Given the description of an element on the screen output the (x, y) to click on. 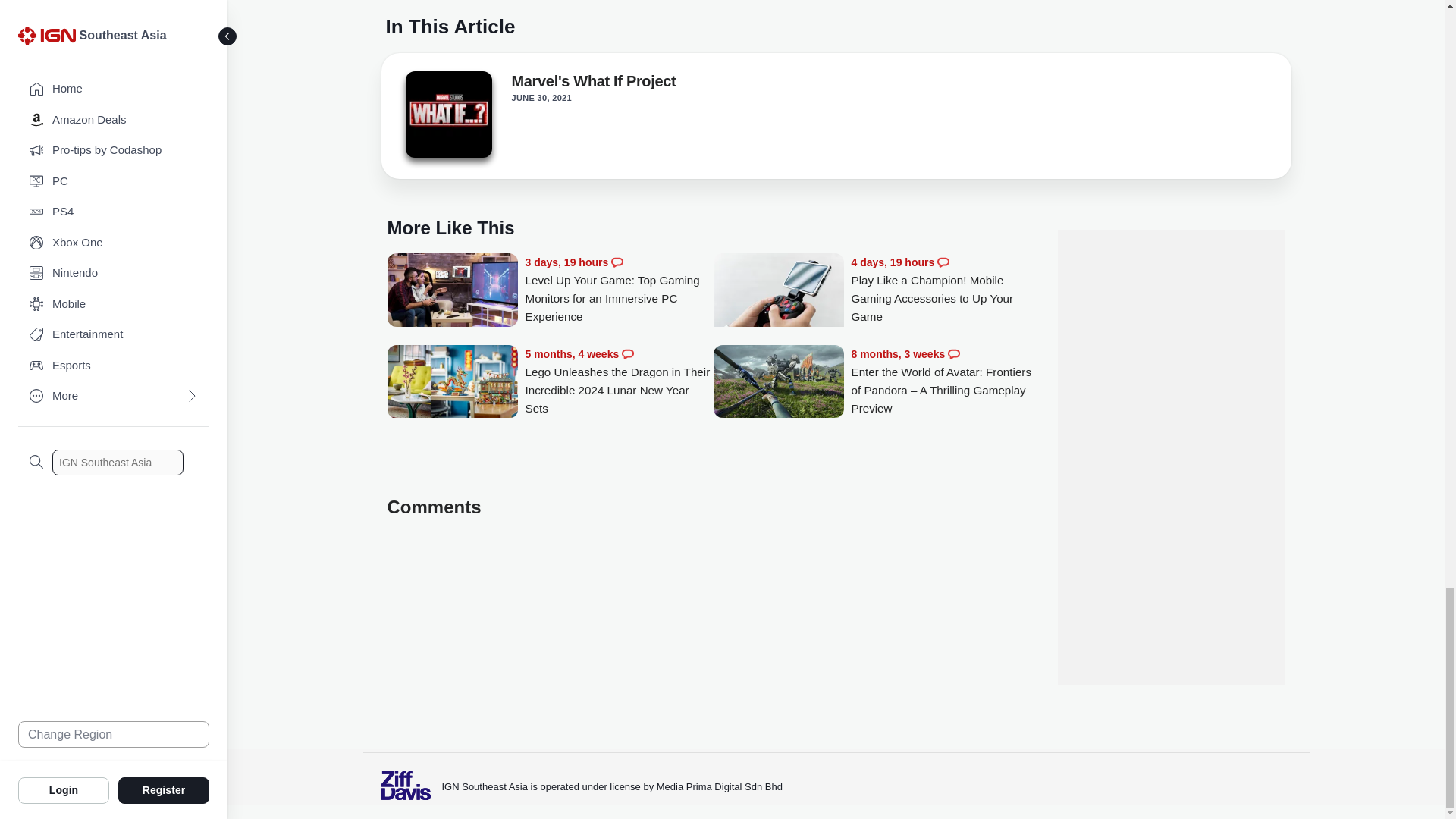
Marvel's What If Project (448, 114)
Marvel's What If Project (593, 83)
Comments (617, 262)
Marvel's What If Project (448, 119)
Comments (943, 262)
Comments (627, 354)
